Given the description of an element on the screen output the (x, y) to click on. 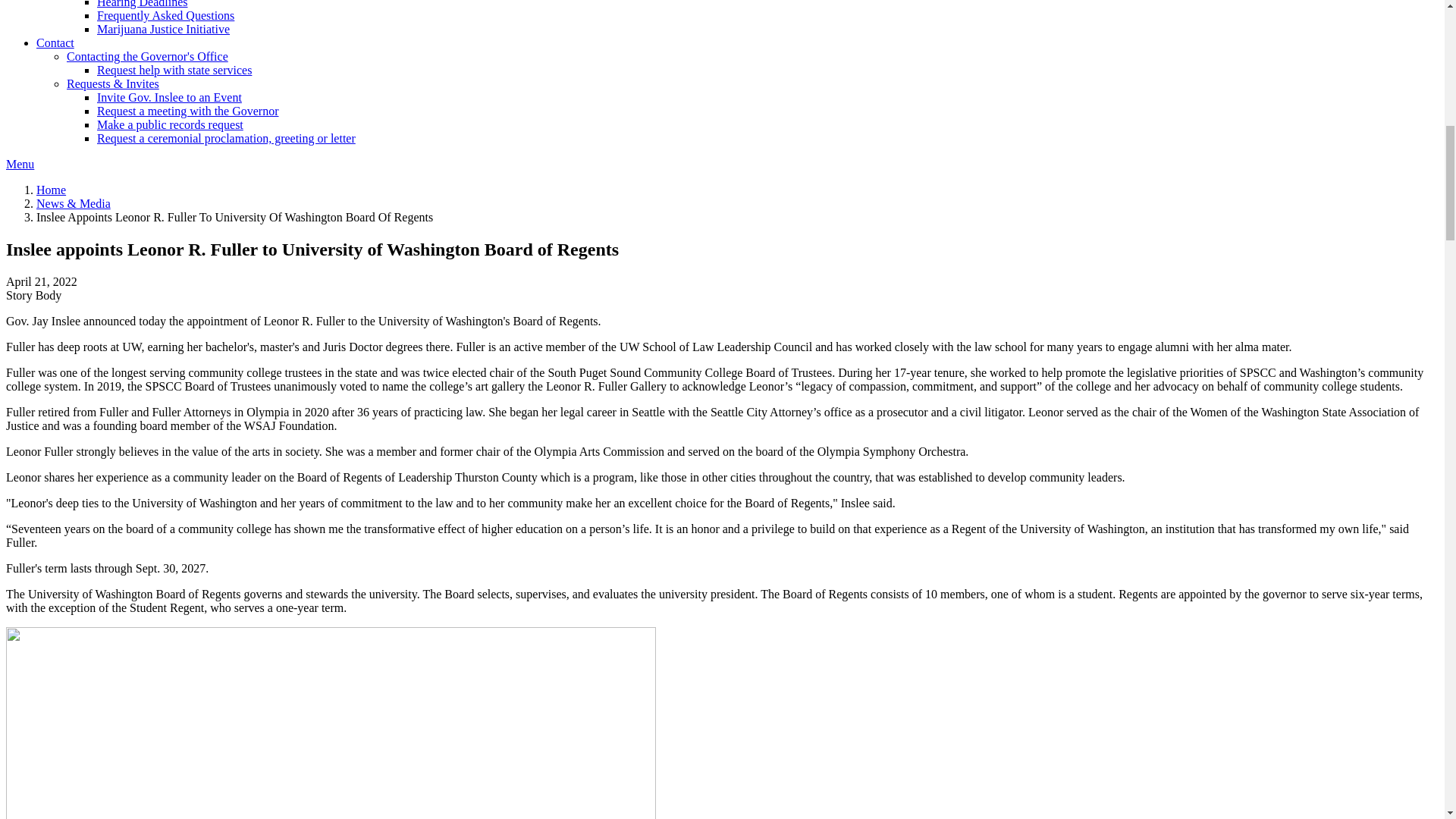
Menu (19, 164)
